Given the description of an element on the screen output the (x, y) to click on. 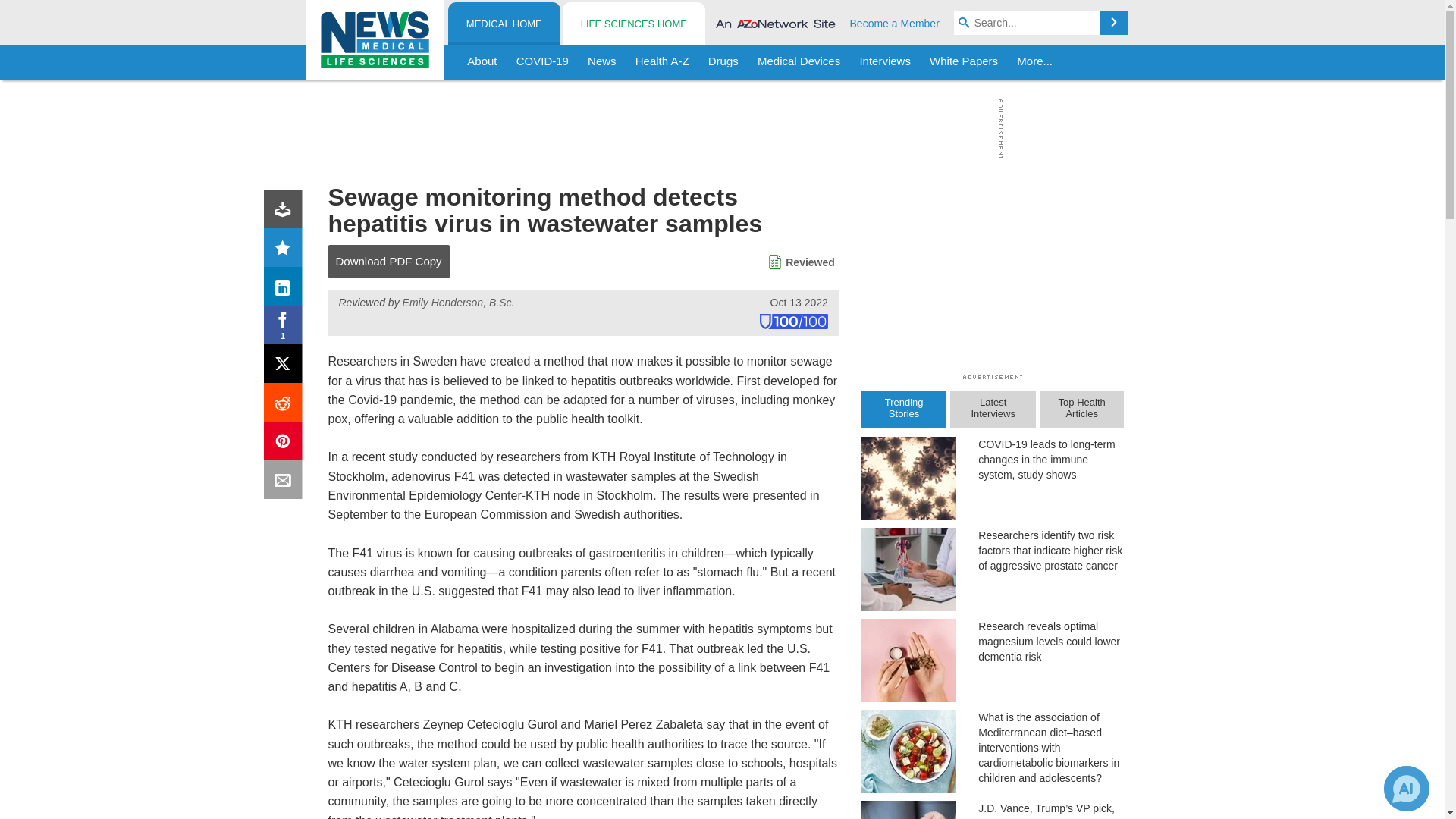
Become a Member (894, 22)
LinkedIn (285, 289)
Facebook (285, 328)
COVID-19 (542, 62)
Rating (285, 250)
Search (1112, 22)
More... (1035, 62)
Interviews (884, 62)
About (482, 62)
Reddit (285, 405)
White Papers (963, 62)
Medical Devices (798, 62)
LIFE SCIENCES HOME (633, 23)
News (601, 62)
